Given the description of an element on the screen output the (x, y) to click on. 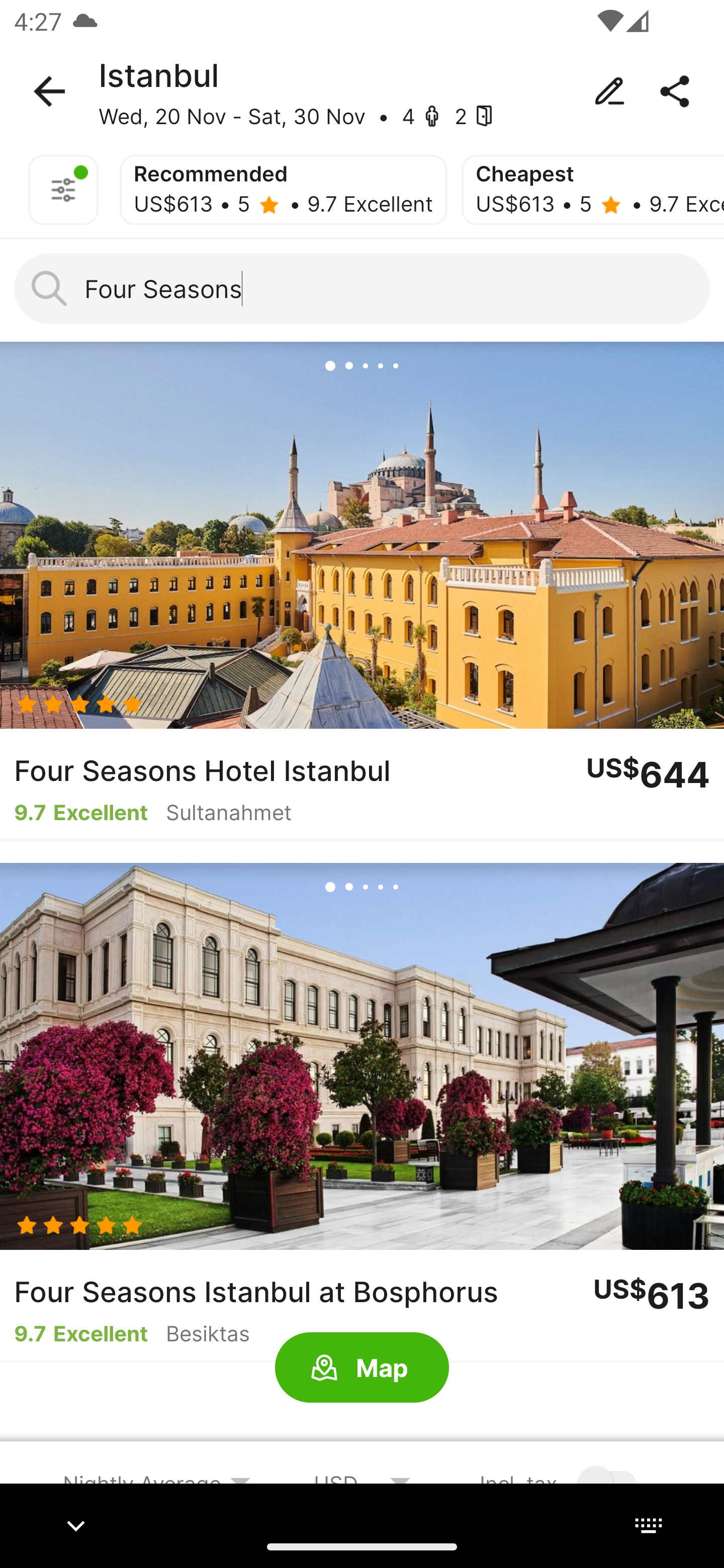
Istanbul Wed, 20 Nov - Sat, 30 Nov  •  4 -  2 - (361, 91)
Recommended  US$613  • 5 - • 9.7 Excellent (283, 190)
Cheapest US$613  • 5 - • 9.7 Excellent (592, 190)
Four Seasons (361, 288)
Map  (361, 1367)
